Given the description of an element on the screen output the (x, y) to click on. 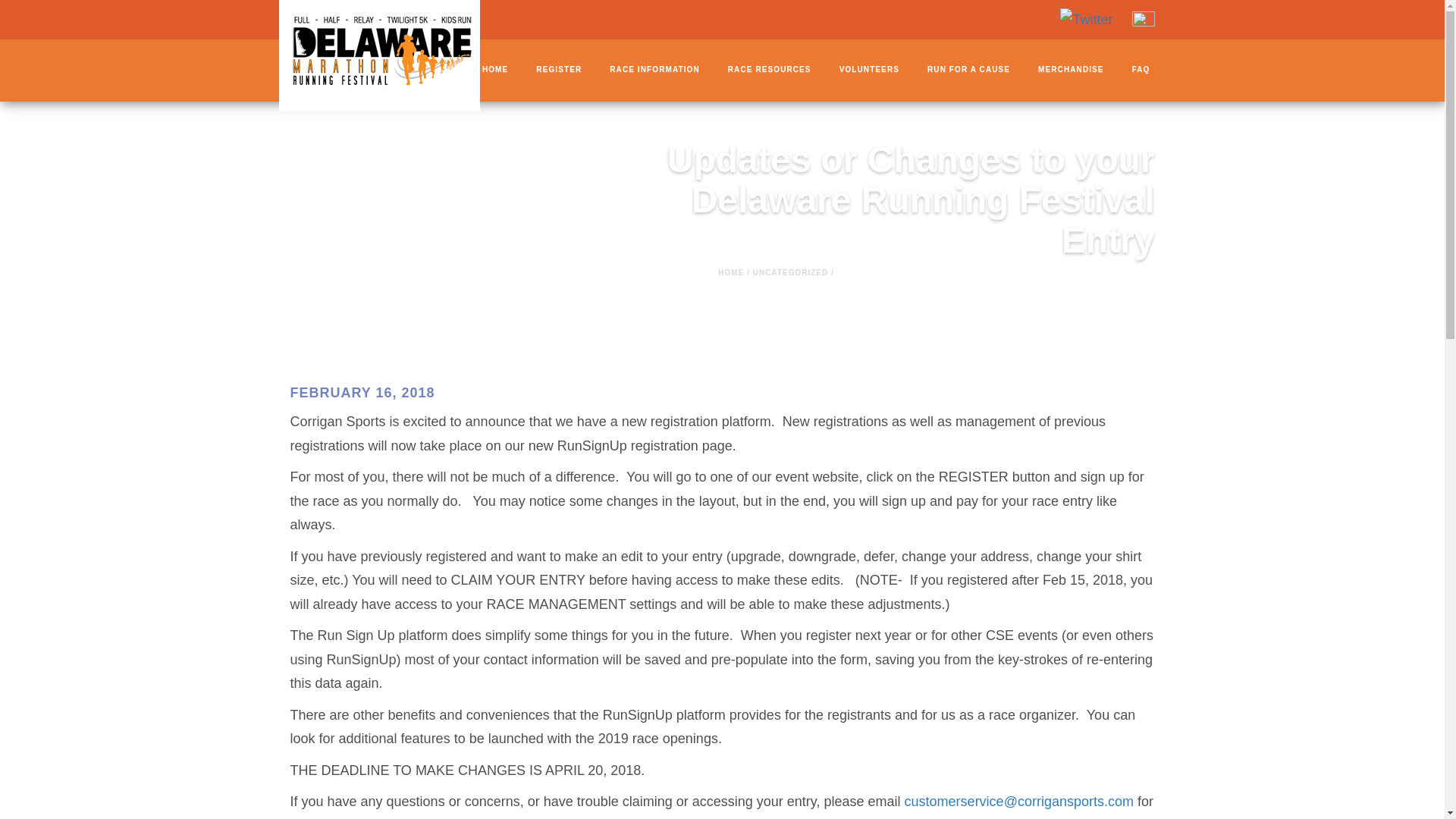
REGISTER (557, 70)
HOME (494, 70)
RACE INFORMATION (655, 70)
RACE RESOURCES (769, 70)
UNCATEGORIZED (790, 272)
HOME (730, 272)
MERCHANDISE (1070, 70)
FAQ (1141, 70)
RUN FOR A CAUSE (968, 70)
VOLUNTEERS (869, 70)
